Given the description of an element on the screen output the (x, y) to click on. 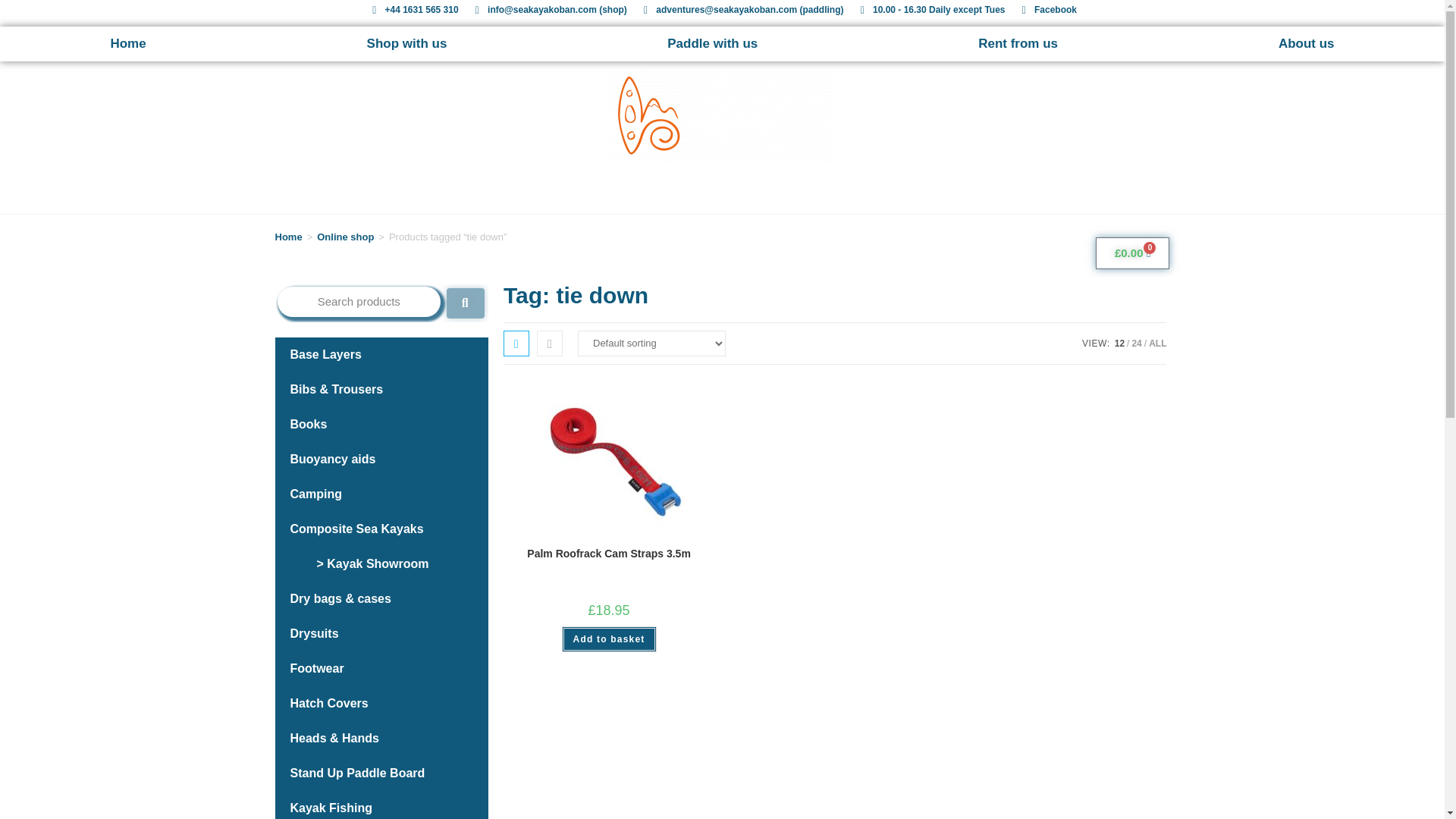
Home (128, 43)
Shop with us (406, 43)
Paddle with us (712, 43)
Rent from us (1018, 43)
List view (549, 343)
Facebook (1047, 10)
Grid view (516, 343)
